Given the description of an element on the screen output the (x, y) to click on. 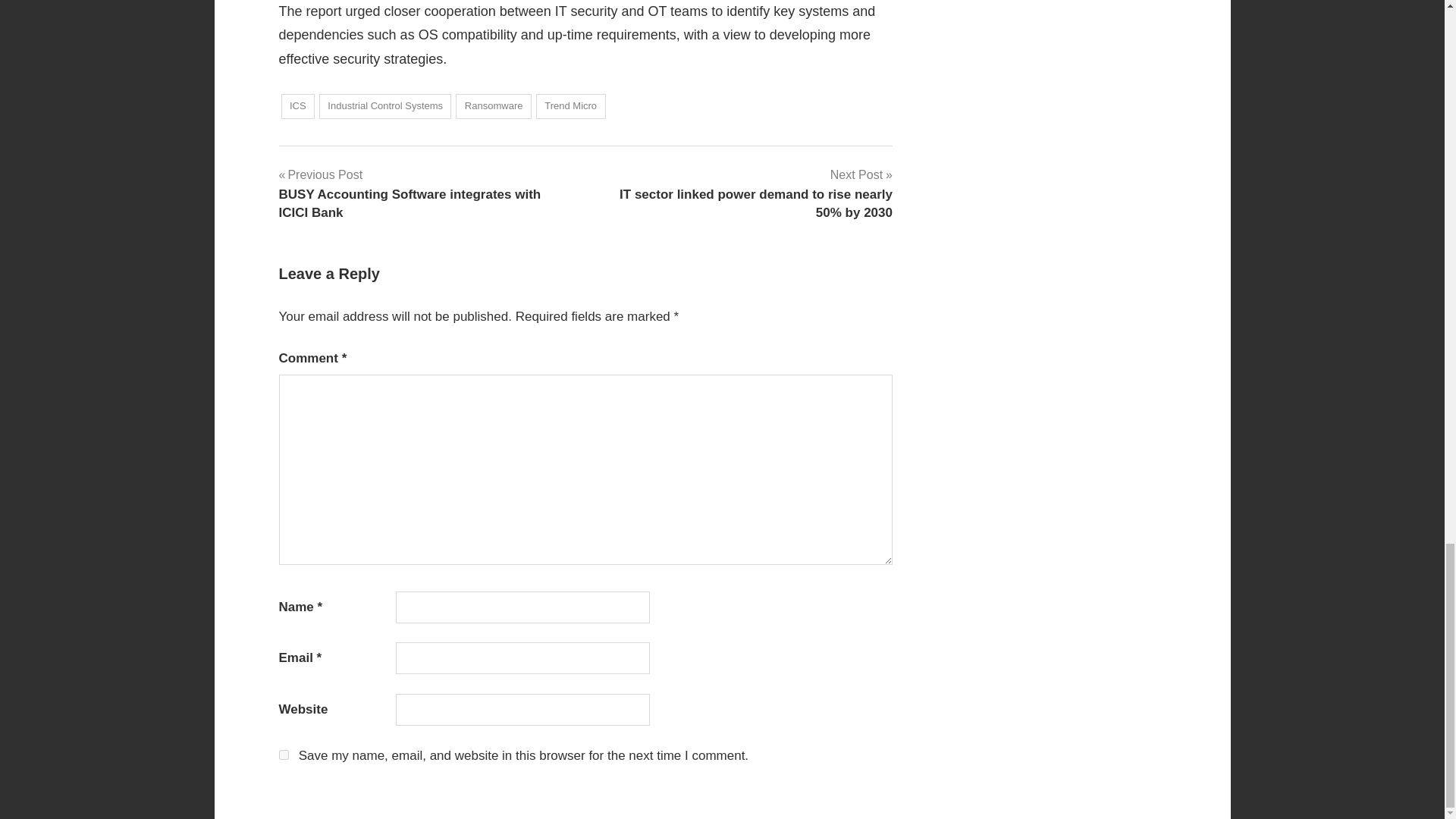
Industrial Control Systems (384, 106)
ICS (297, 106)
Trend Micro (570, 106)
yes (283, 755)
Ransomware (493, 106)
